Given the description of an element on the screen output the (x, y) to click on. 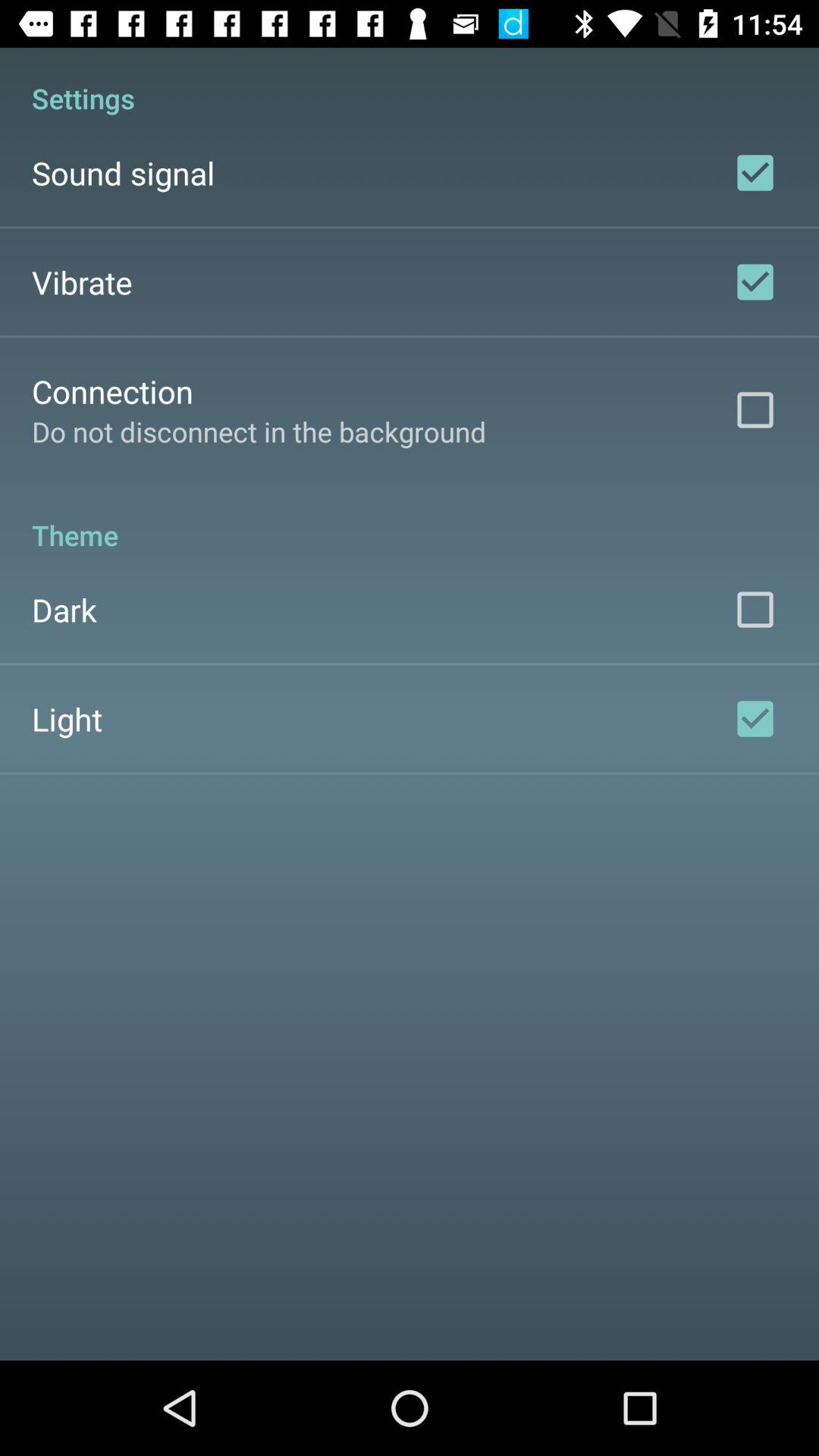
select item below do not disconnect (409, 518)
